Given the description of an element on the screen output the (x, y) to click on. 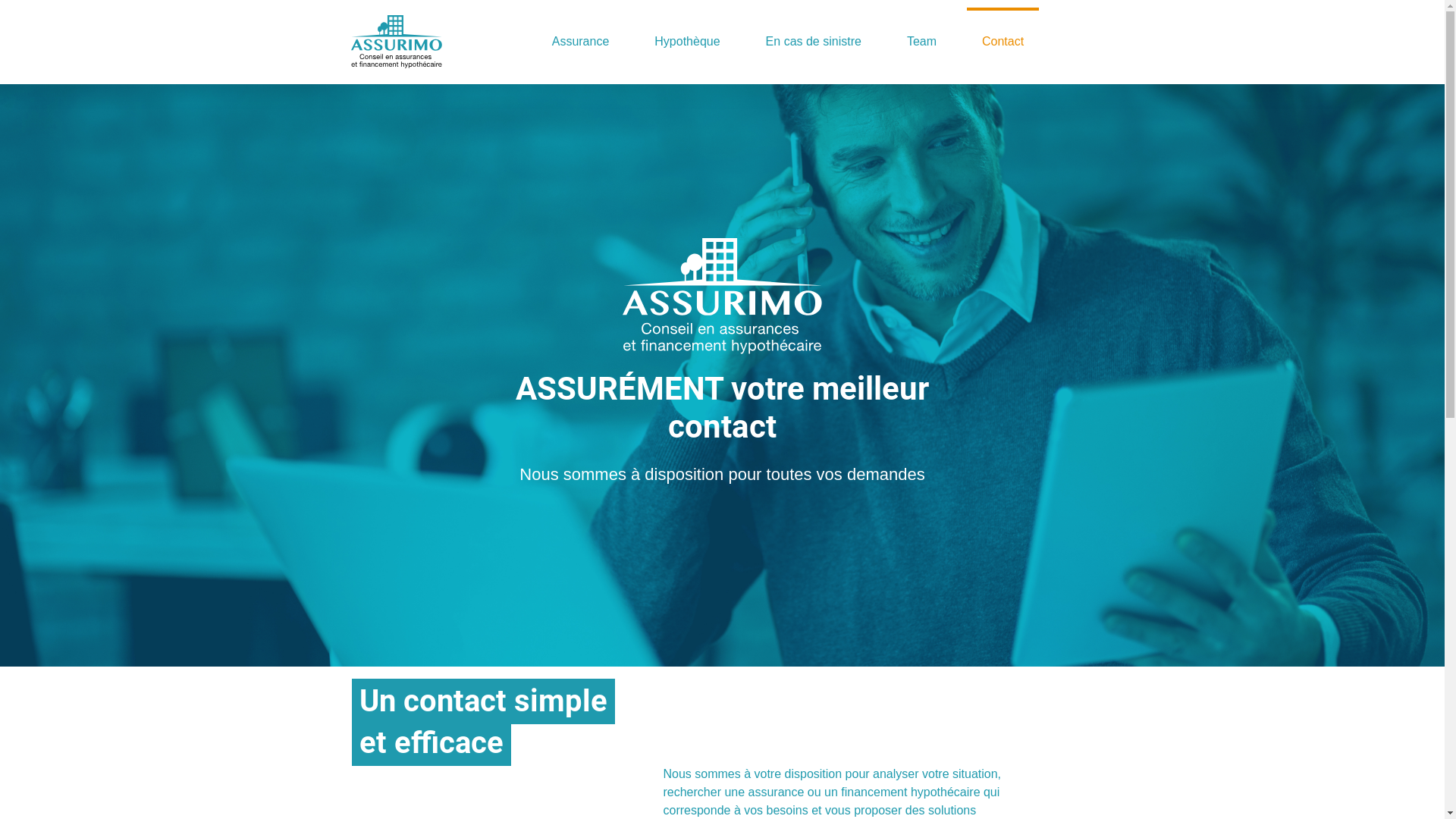
En cas de sinistre Element type: text (813, 41)
Contact Element type: text (1002, 41)
Assurance Element type: text (580, 41)
Team Element type: text (921, 41)
